Given the description of an element on the screen output the (x, y) to click on. 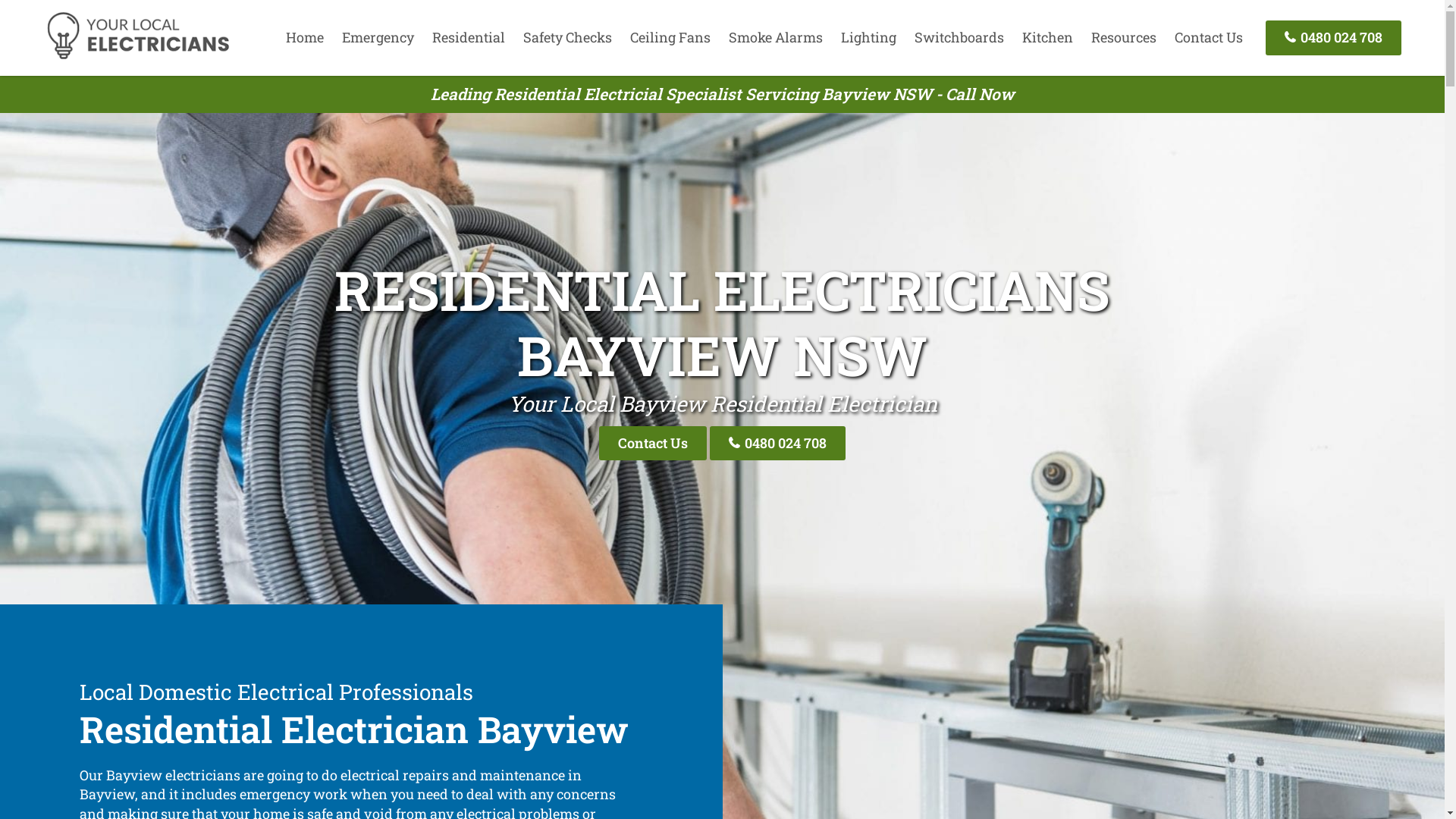
0480 024 708 Element type: text (777, 443)
Safety Checks Element type: text (567, 37)
Ceiling Fans Element type: text (670, 37)
Kitchen Element type: text (1047, 37)
Emergency Element type: text (377, 37)
Residential Element type: text (468, 37)
0480 024 708 Element type: text (1333, 37)
Lighting Element type: text (868, 37)
Switchboards Element type: text (958, 37)
Electricians Element type: hover (137, 56)
Contact Us Element type: text (652, 443)
Resources Element type: text (1123, 37)
Contact Us Element type: text (1208, 37)
Smoke Alarms Element type: text (775, 37)
Home Element type: text (304, 37)
